Given the description of an element on the screen output the (x, y) to click on. 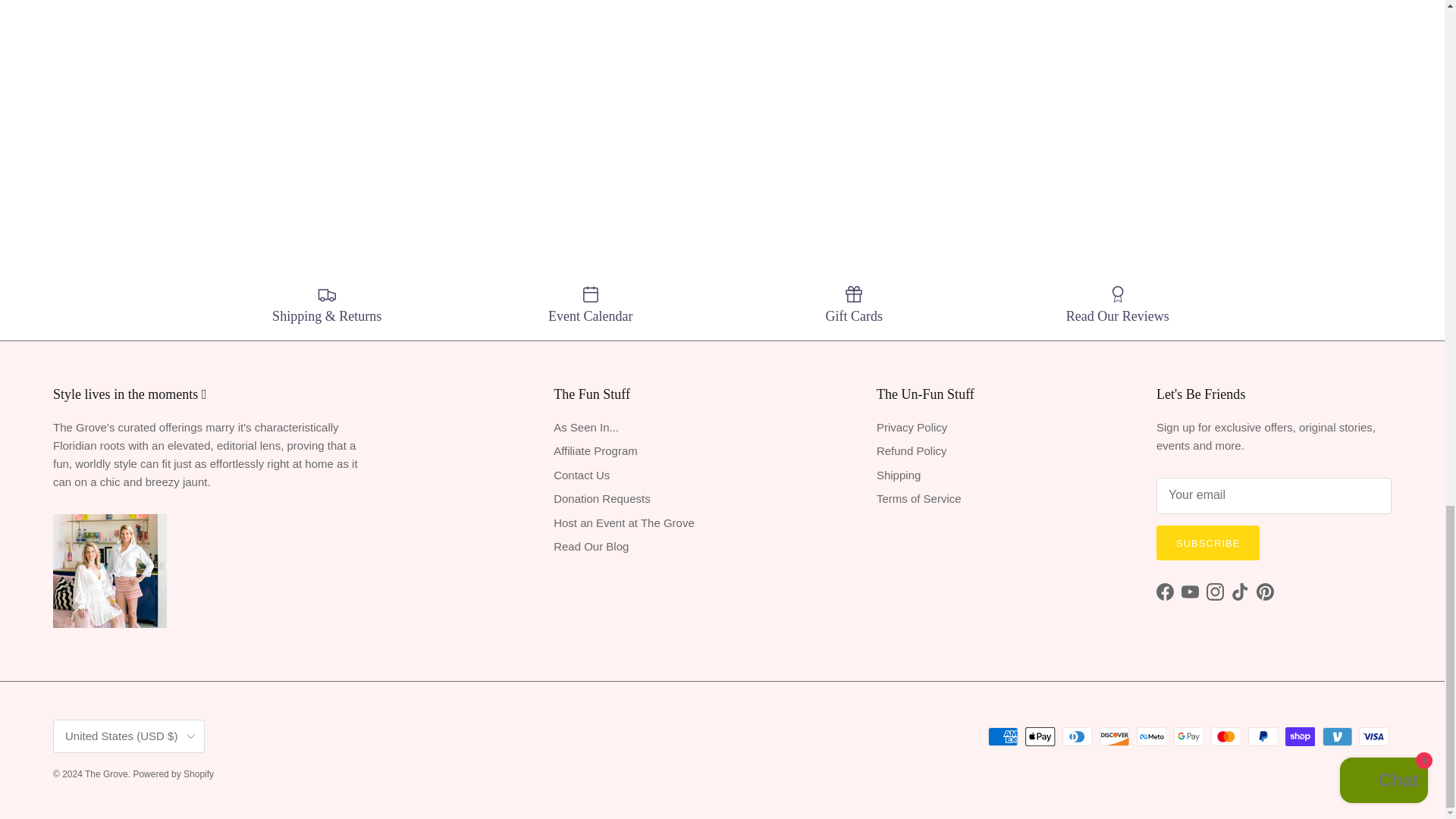
The Grove on YouTube (1189, 591)
The Grove on Facebook (1164, 591)
The Grove on Pinterest (1265, 591)
The Grove on Instagram (1215, 591)
The Grove on TikTok (1240, 591)
